Given the description of an element on the screen output the (x, y) to click on. 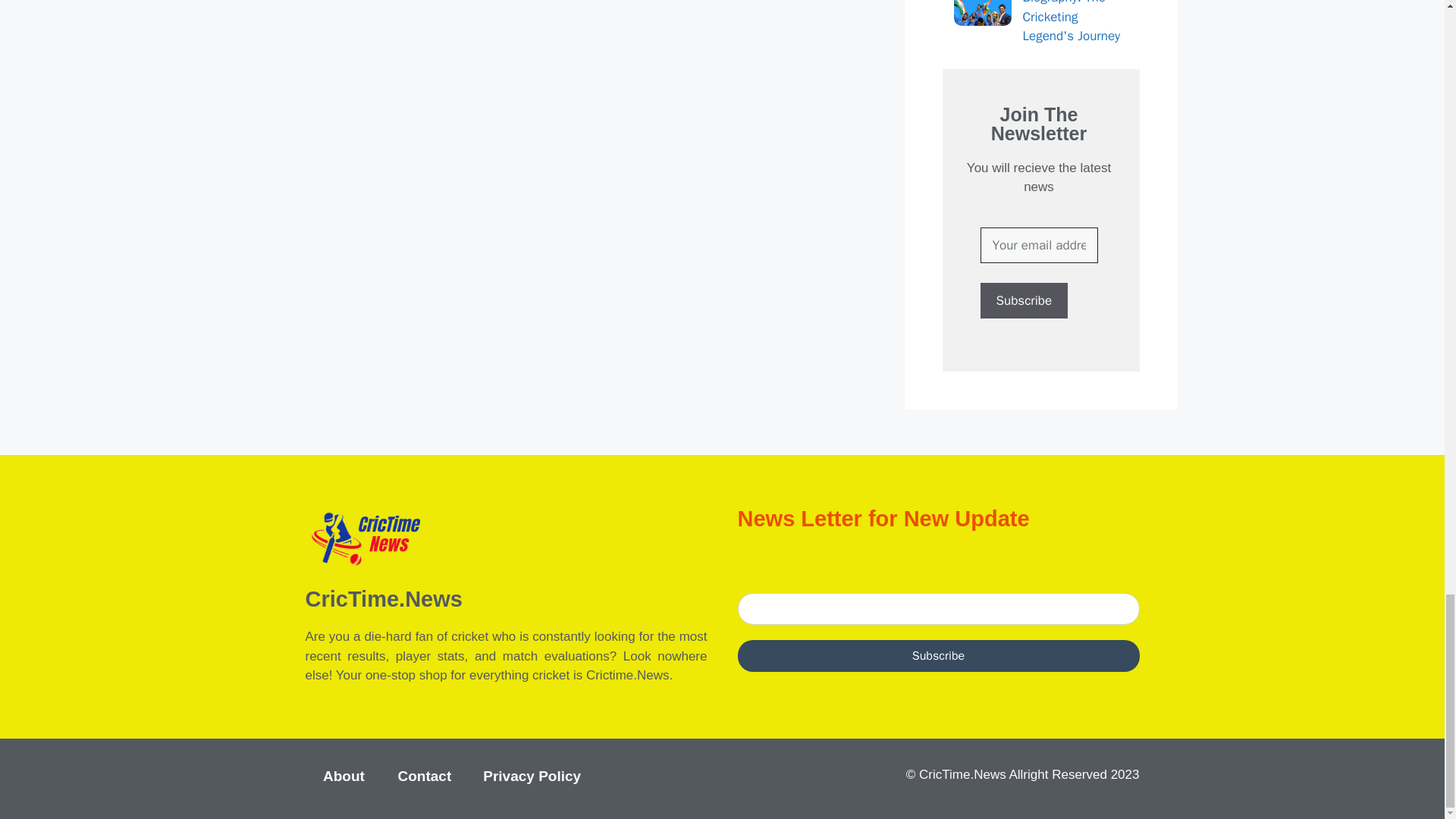
Subscribe (937, 655)
Sachin Tendulkar Biography: The Cricketing Legend's Journey (1040, 22)
About (344, 775)
Subscribe (1023, 300)
Subscribe (1023, 300)
